Given the description of an element on the screen output the (x, y) to click on. 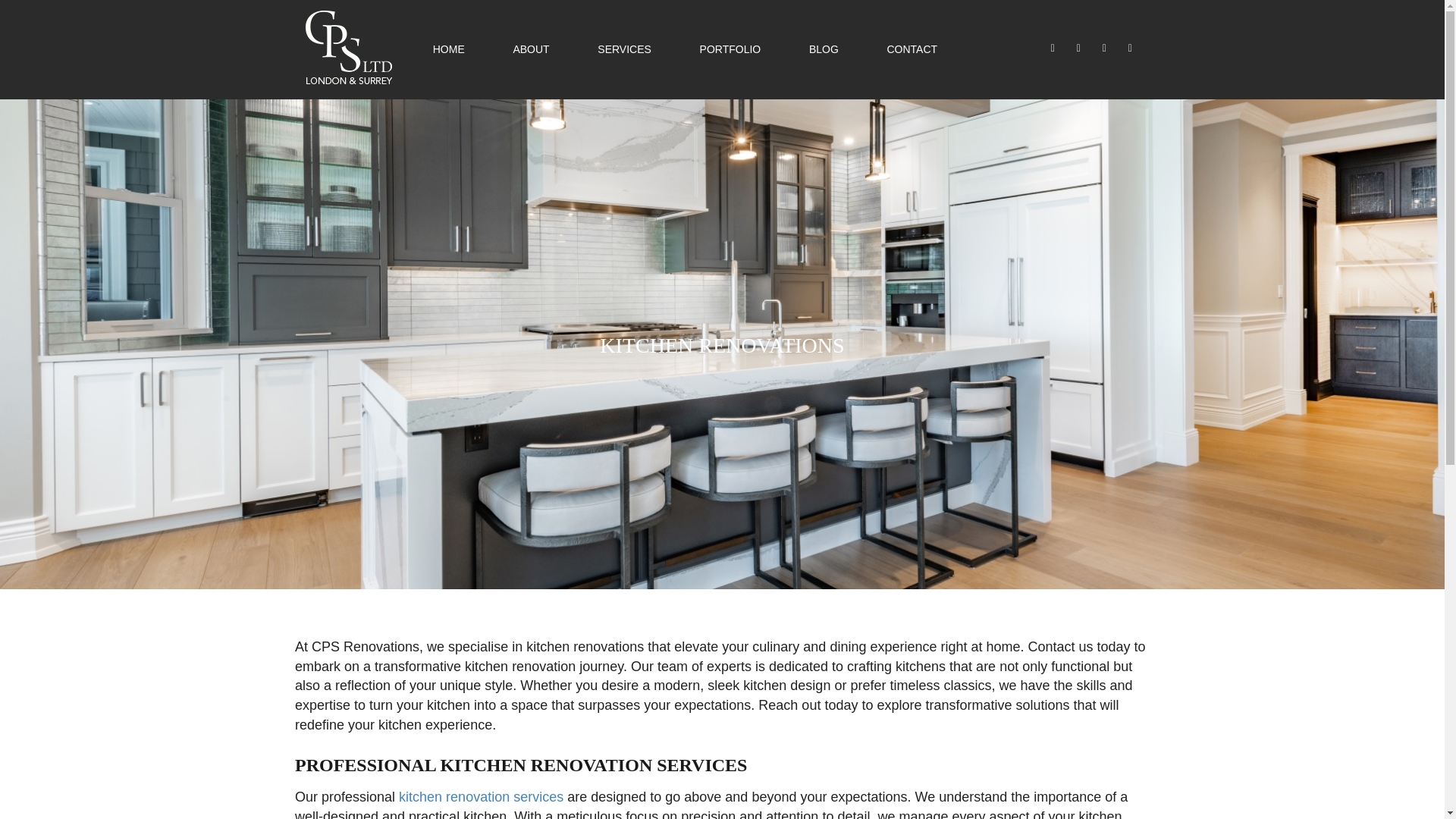
CONTACT (911, 49)
SERVICES (623, 49)
Follow Us on Instagram (1079, 47)
HOME (448, 49)
BLOG (823, 49)
PORTFOLIO (730, 49)
ABOUT (530, 49)
kitchen renovation services (480, 796)
